Given the description of an element on the screen output the (x, y) to click on. 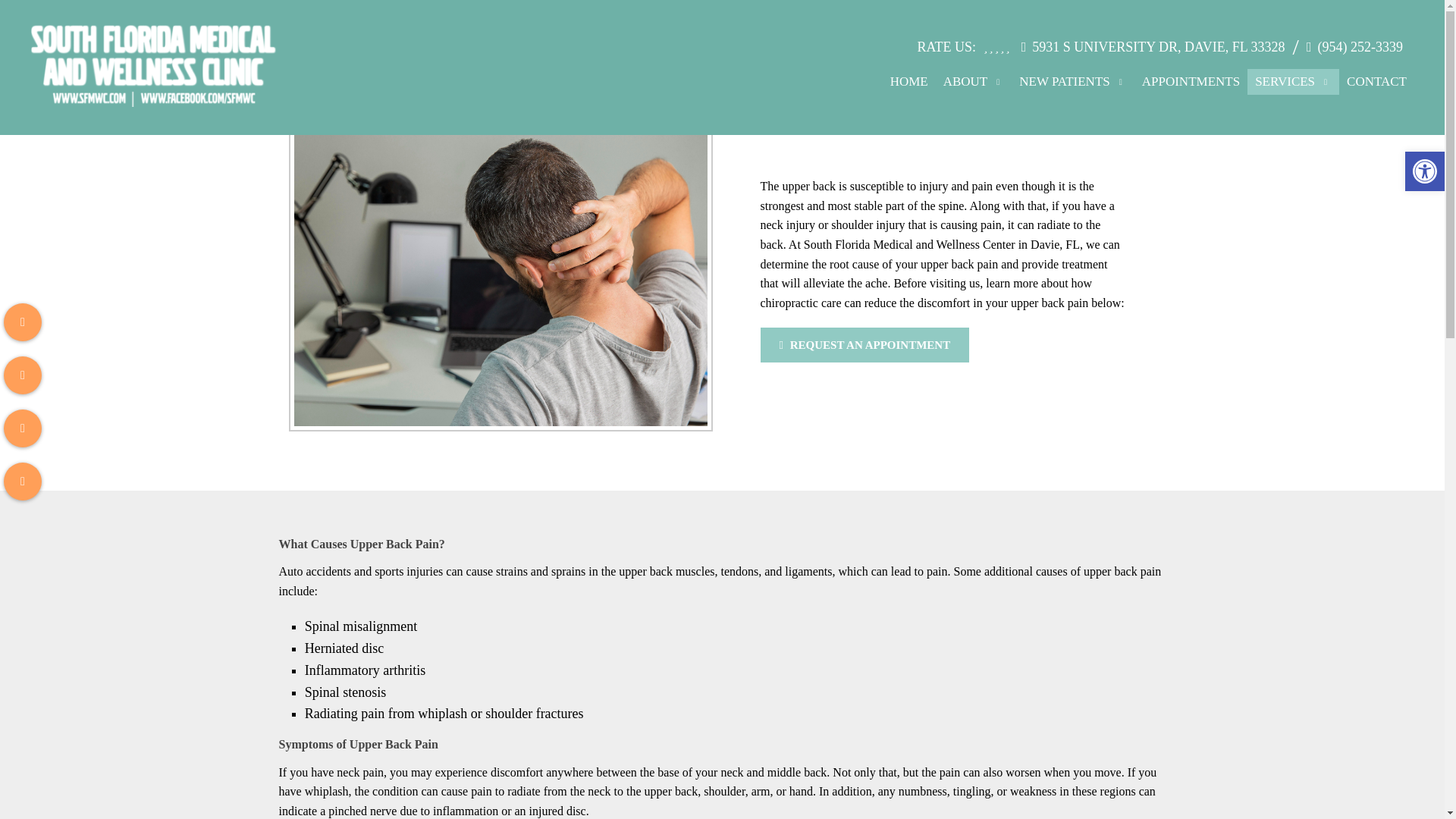
SERVICES (1293, 81)
APPOINTMENTS (1190, 81)
Accessibility Tools (1424, 170)
ABOUT (973, 81)
NEW PATIENTS (1072, 81)
HOME (909, 81)
5931 S UNIVERSITY DR, DAVIE, FL 33328 (1158, 47)
